Given the description of an element on the screen output the (x, y) to click on. 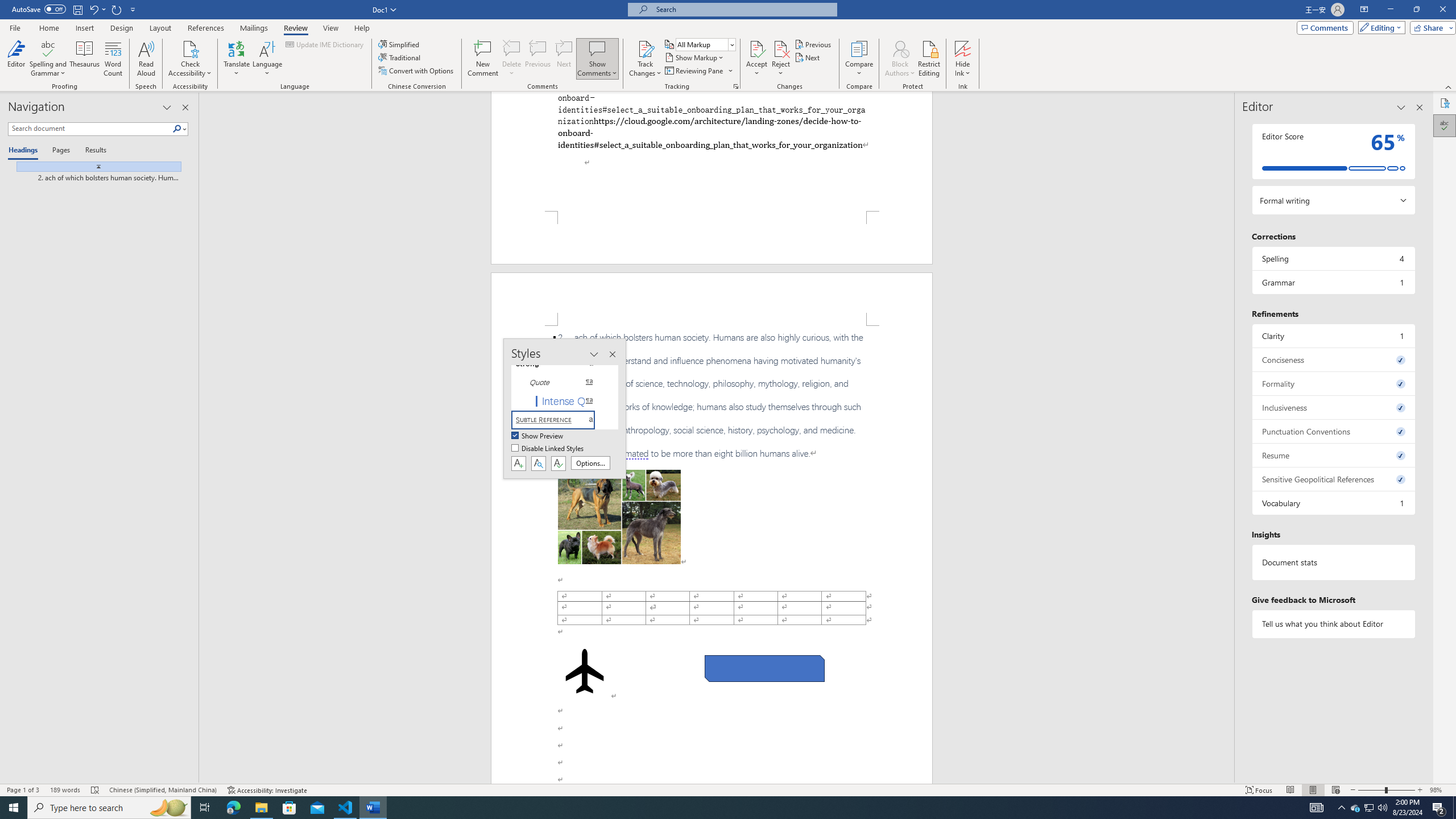
Tell us what you think about Editor (1333, 624)
File Tab (15, 27)
Results (91, 150)
Disable Linked Styles (548, 448)
Grammar, 1 issue. Press space or enter to review items. (1333, 282)
Delete (511, 48)
Share (1430, 27)
Collapse the Ribbon (1448, 86)
Block Authors (900, 58)
Pages (59, 150)
Show Preview (537, 436)
Accept (756, 58)
